Given the description of an element on the screen output the (x, y) to click on. 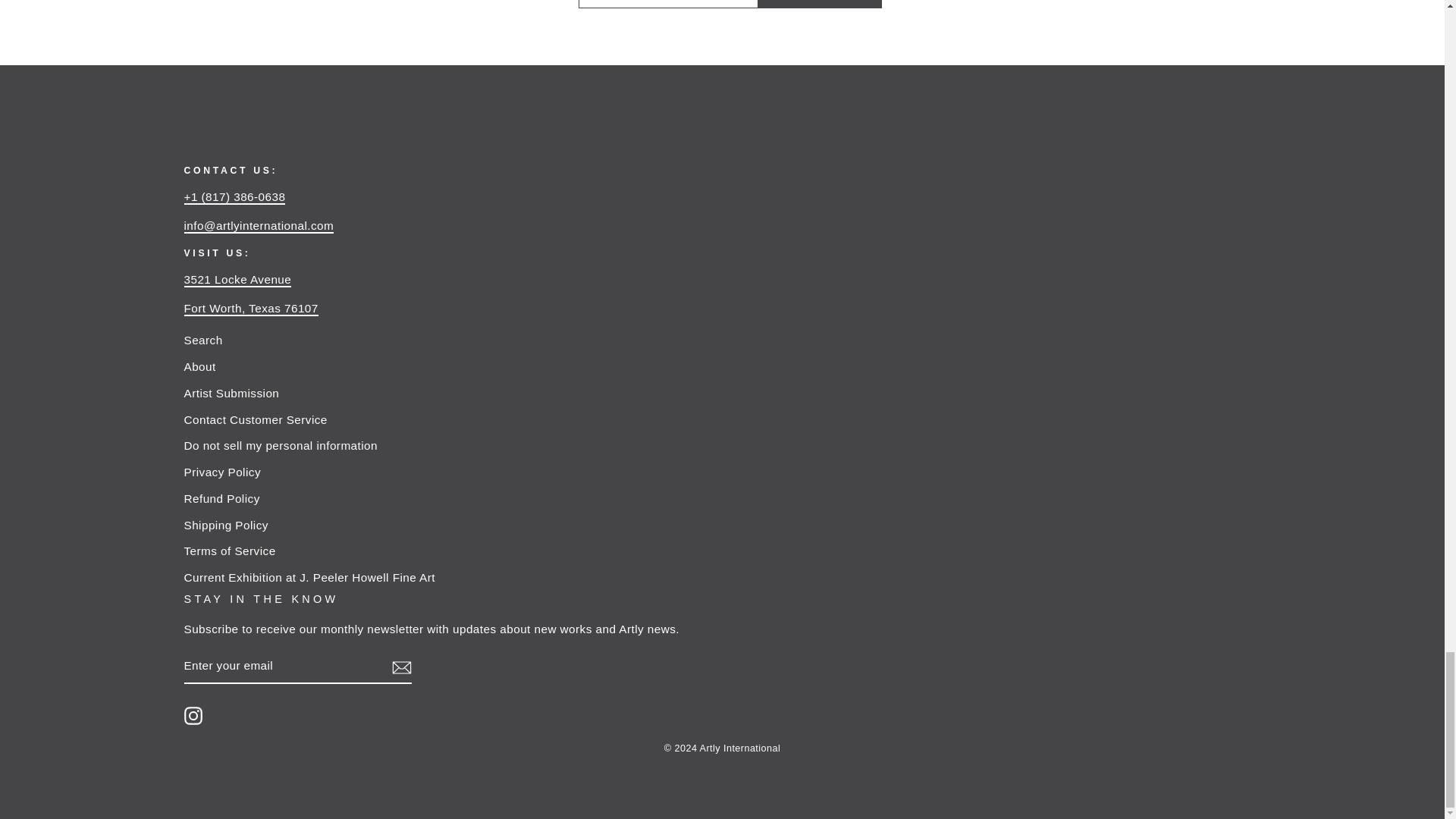
Google Map to Artly International (250, 309)
Google Map to Artly International (237, 279)
email us (258, 226)
Artly International on Instagram (192, 715)
instagram (192, 715)
icon-email (400, 667)
